Given the description of an element on the screen output the (x, y) to click on. 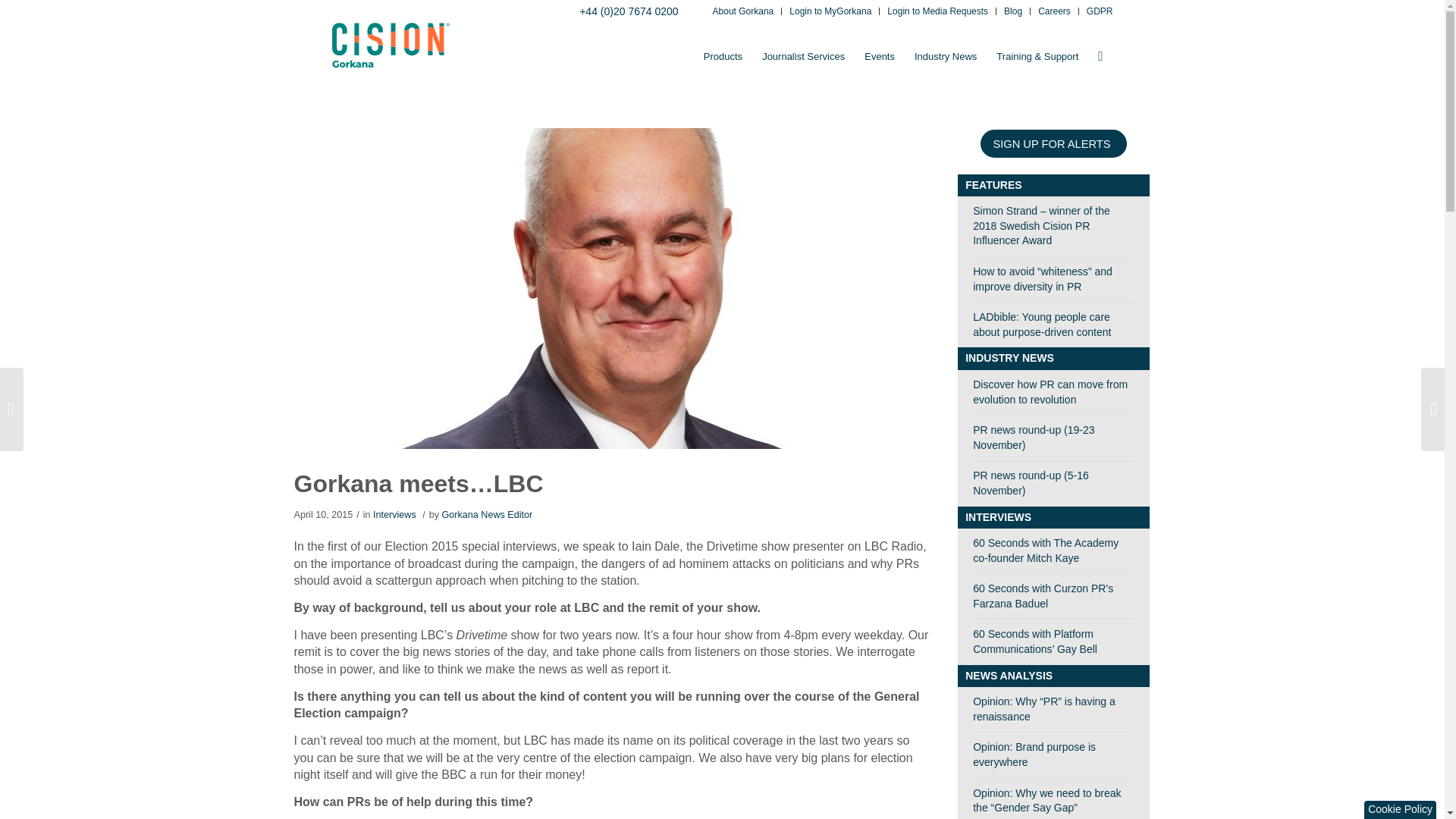
Careers (1054, 12)
Industry News (945, 56)
About Gorkana (743, 12)
GDPR (1099, 12)
Journalist Services (803, 56)
Posts by Gorkana News Editor (487, 514)
Login to Media Requests (937, 12)
Login to MyGorkana (829, 12)
